Given the description of an element on the screen output the (x, y) to click on. 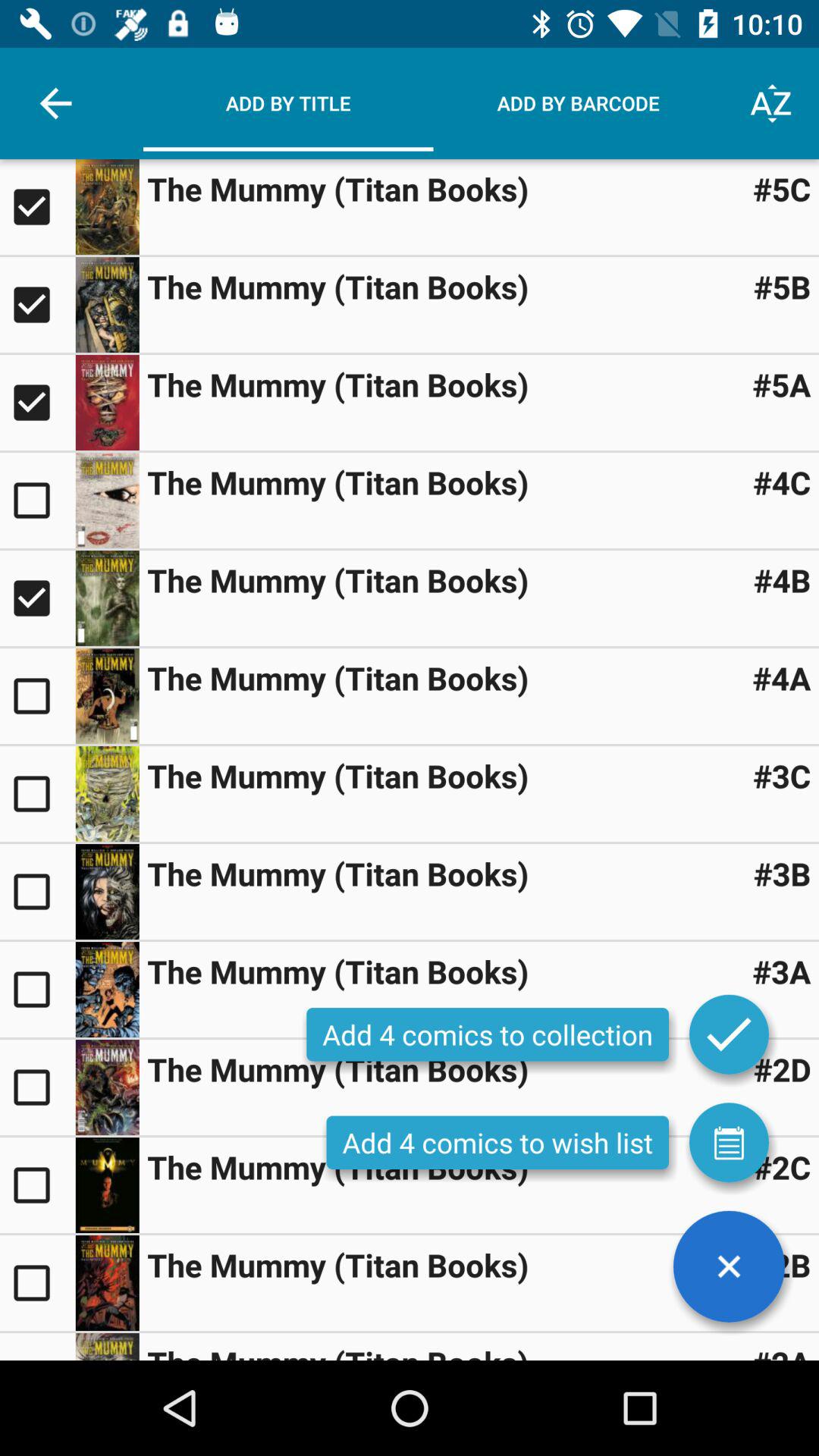
look at book option (107, 598)
